Given the description of an element on the screen output the (x, y) to click on. 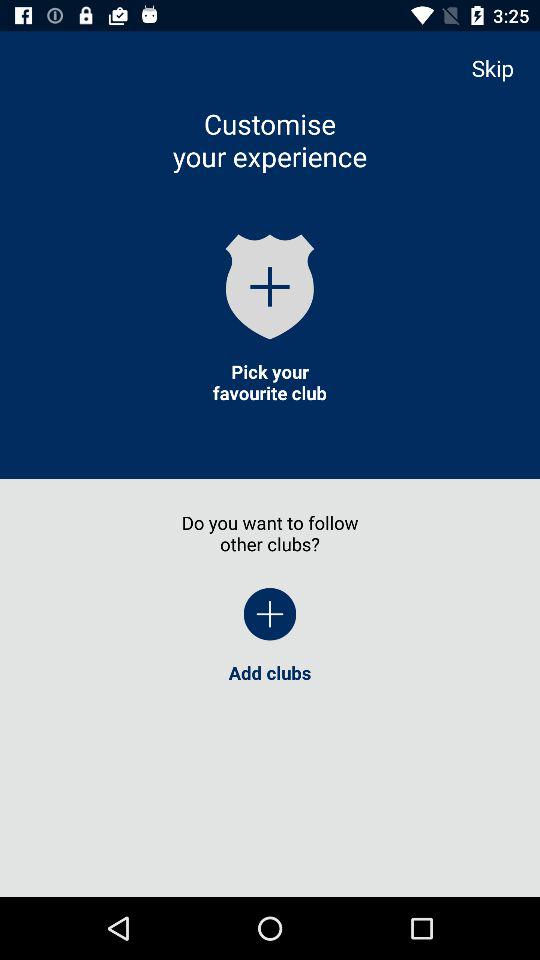
turn on the skip item (502, 68)
